Given the description of an element on the screen output the (x, y) to click on. 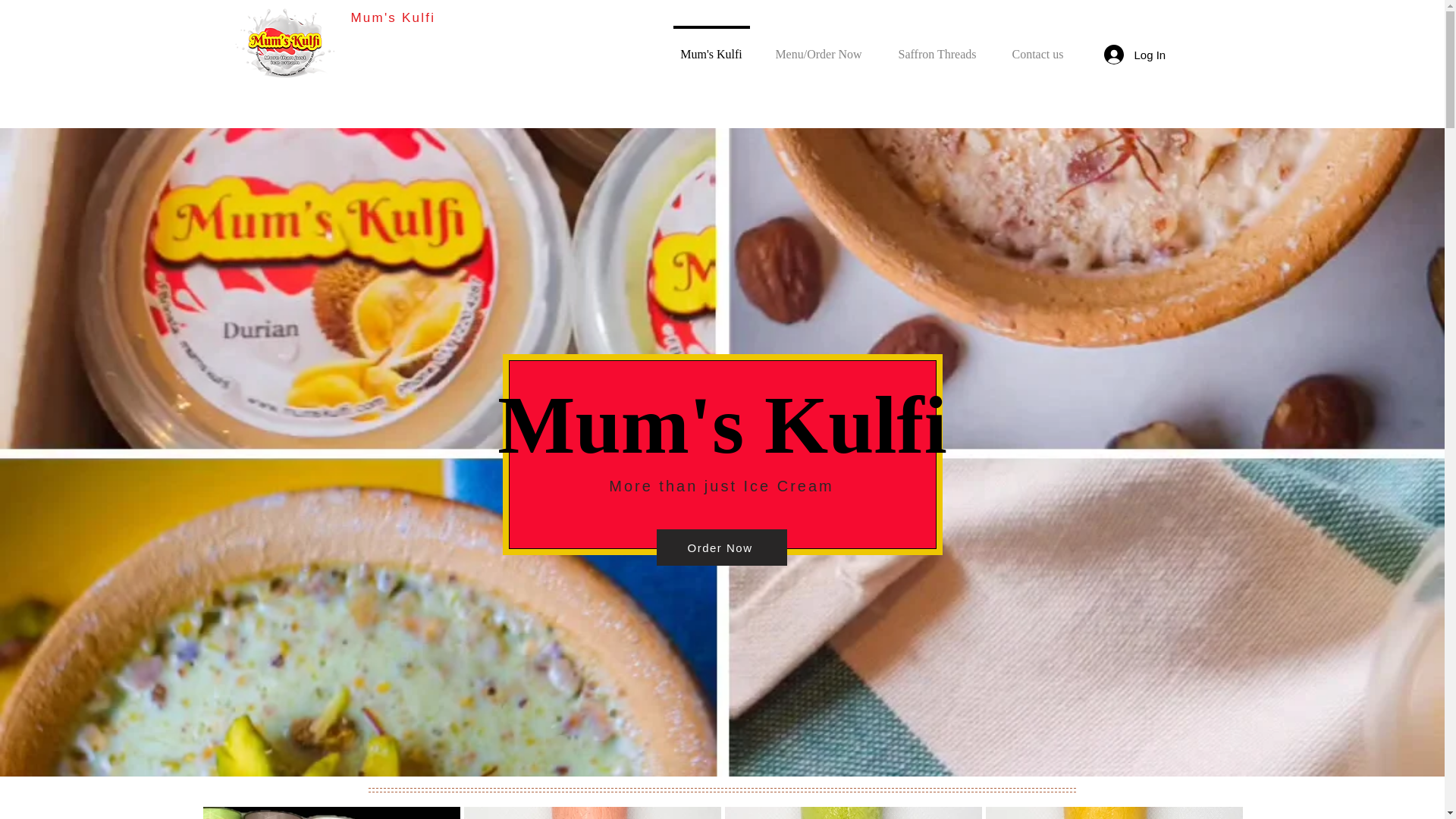
Log In (1132, 54)
Mum's Kulfi (722, 431)
Mum's Kulfi (392, 17)
Contact us (711, 47)
Saffron Threads (1037, 47)
Order Now (936, 47)
